Given the description of an element on the screen output the (x, y) to click on. 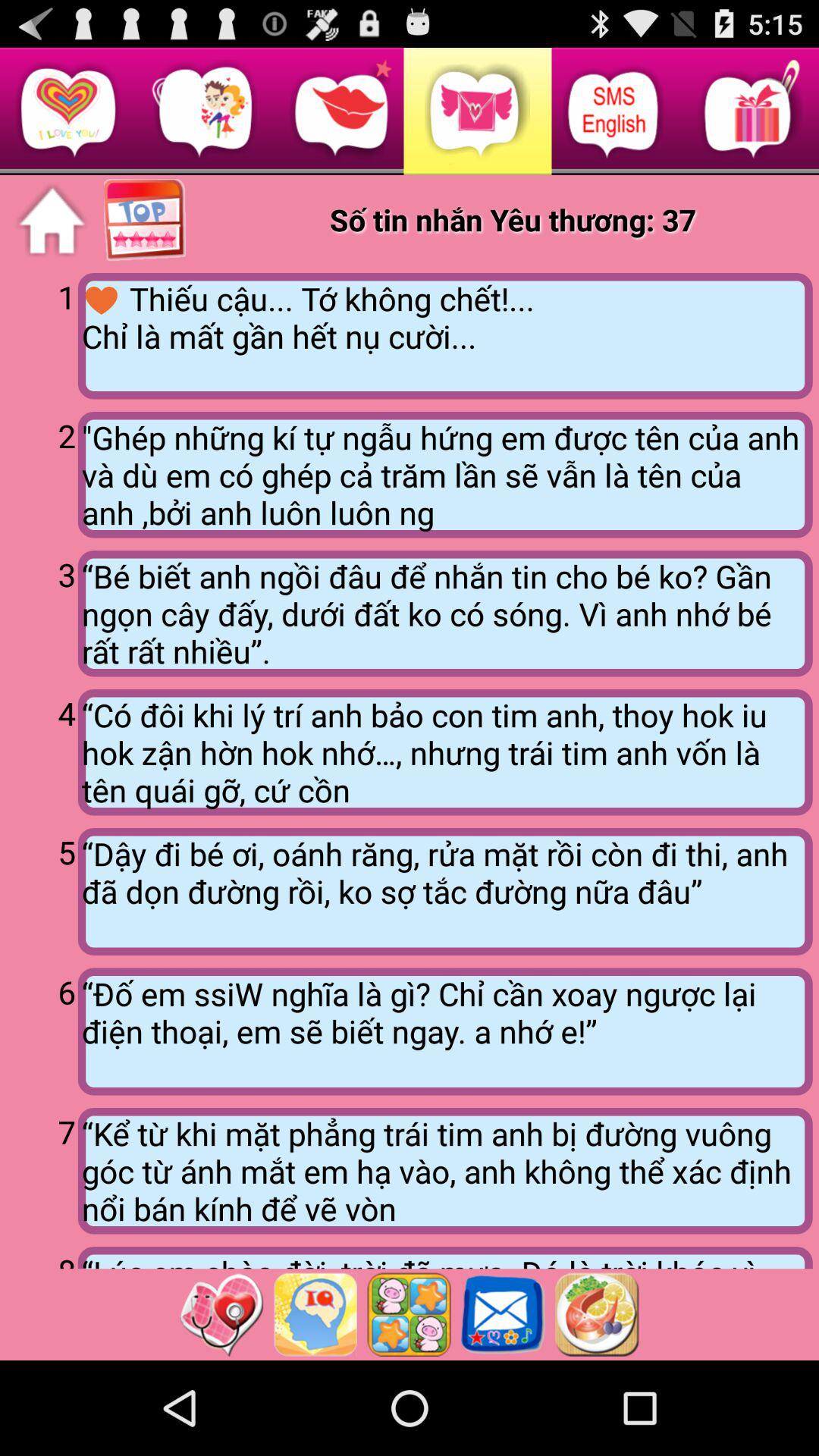
check email (502, 1314)
